Given the description of an element on the screen output the (x, y) to click on. 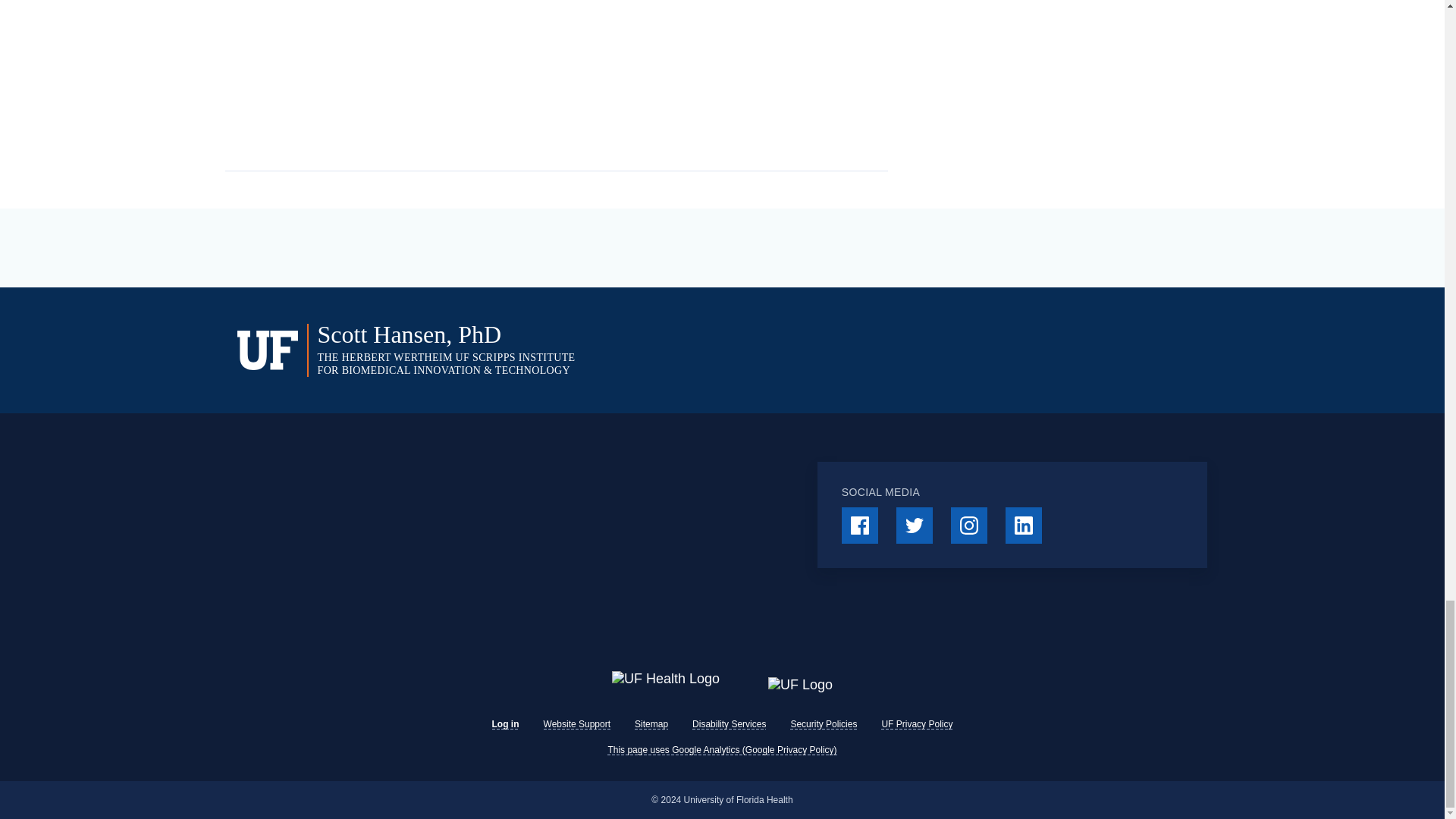
Sitemap (651, 724)
University of Florida Health - Home (665, 678)
Log in (505, 724)
Website Support (577, 724)
Security Policies (823, 724)
Twitter (914, 524)
Security Policies (823, 724)
LinkedIn (1024, 524)
UF Privacy Policy (916, 724)
Instagram (968, 524)
Website Support (577, 724)
Disability Services (729, 724)
Facebook (859, 524)
Disability Services (729, 724)
Log in (505, 724)
